Given the description of an element on the screen output the (x, y) to click on. 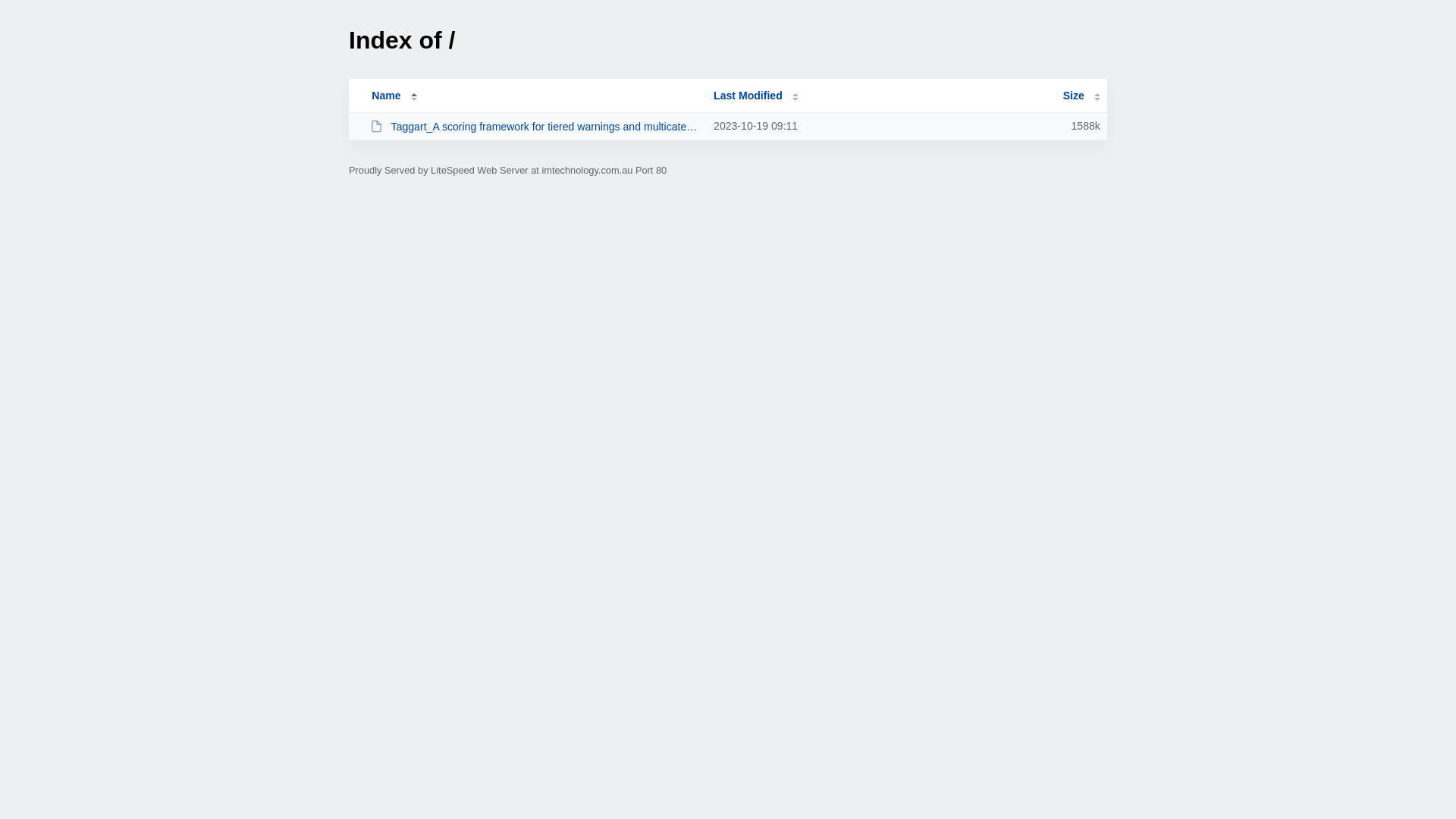
Last Modified Element type: text (755, 95)
Name Element type: text (385, 95)
Size Element type: text (1081, 95)
